Given the description of an element on the screen output the (x, y) to click on. 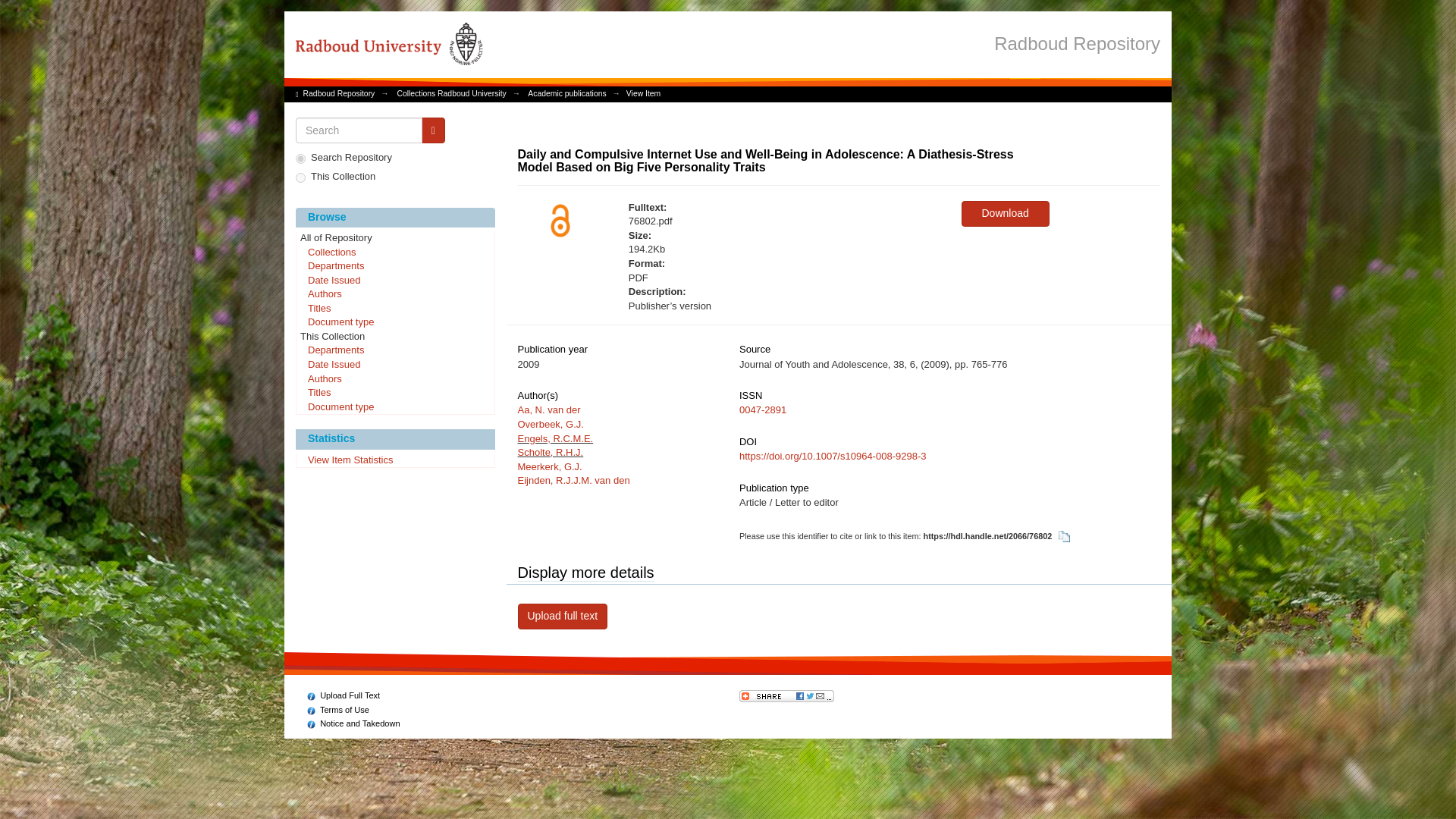
Aa, N. van der (547, 409)
Authors (395, 379)
Departments (395, 266)
Document type (395, 407)
All of Repository (395, 238)
Scholte, R.H.J. (549, 451)
Departments (395, 350)
Radboud Repository (1077, 43)
Overbeek, G.J. (549, 423)
Meerkerk, G.J. (548, 466)
